Given the description of an element on the screen output the (x, y) to click on. 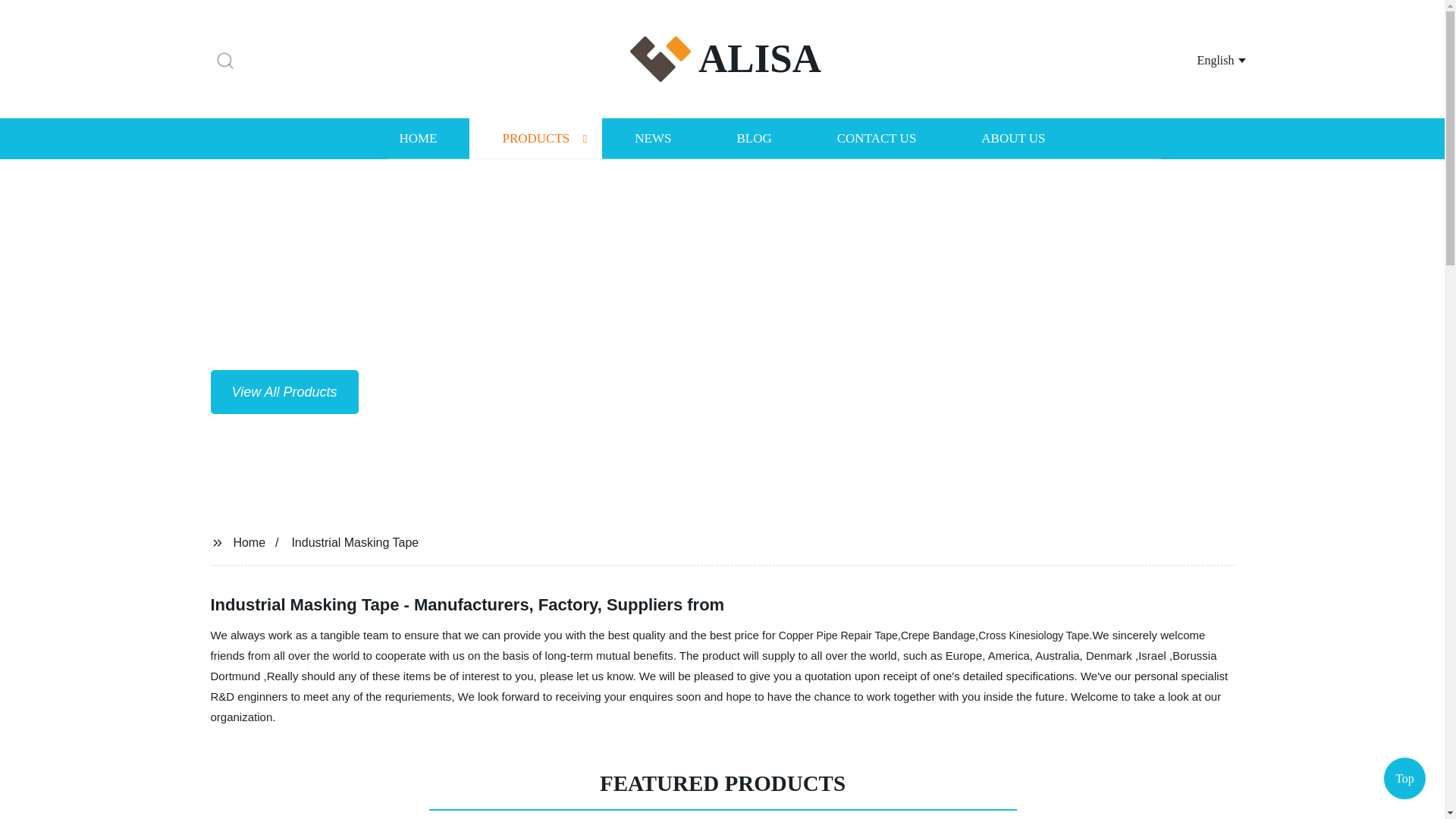
HOME (417, 137)
English (1203, 59)
PRODUCTS (535, 137)
Cross Kinesiology Tape (1033, 635)
English (1203, 59)
BLOG (753, 137)
NEWS (652, 137)
CONTACT US (877, 137)
ABOUT US (1013, 137)
Copper Pipe Repair Tape (838, 635)
Crepe Bandage (938, 635)
Crepe Bandage (938, 635)
Copper Pipe Repair Tape (838, 635)
Top (1404, 778)
Industrial Masking Tape (355, 541)
